Given the description of an element on the screen output the (x, y) to click on. 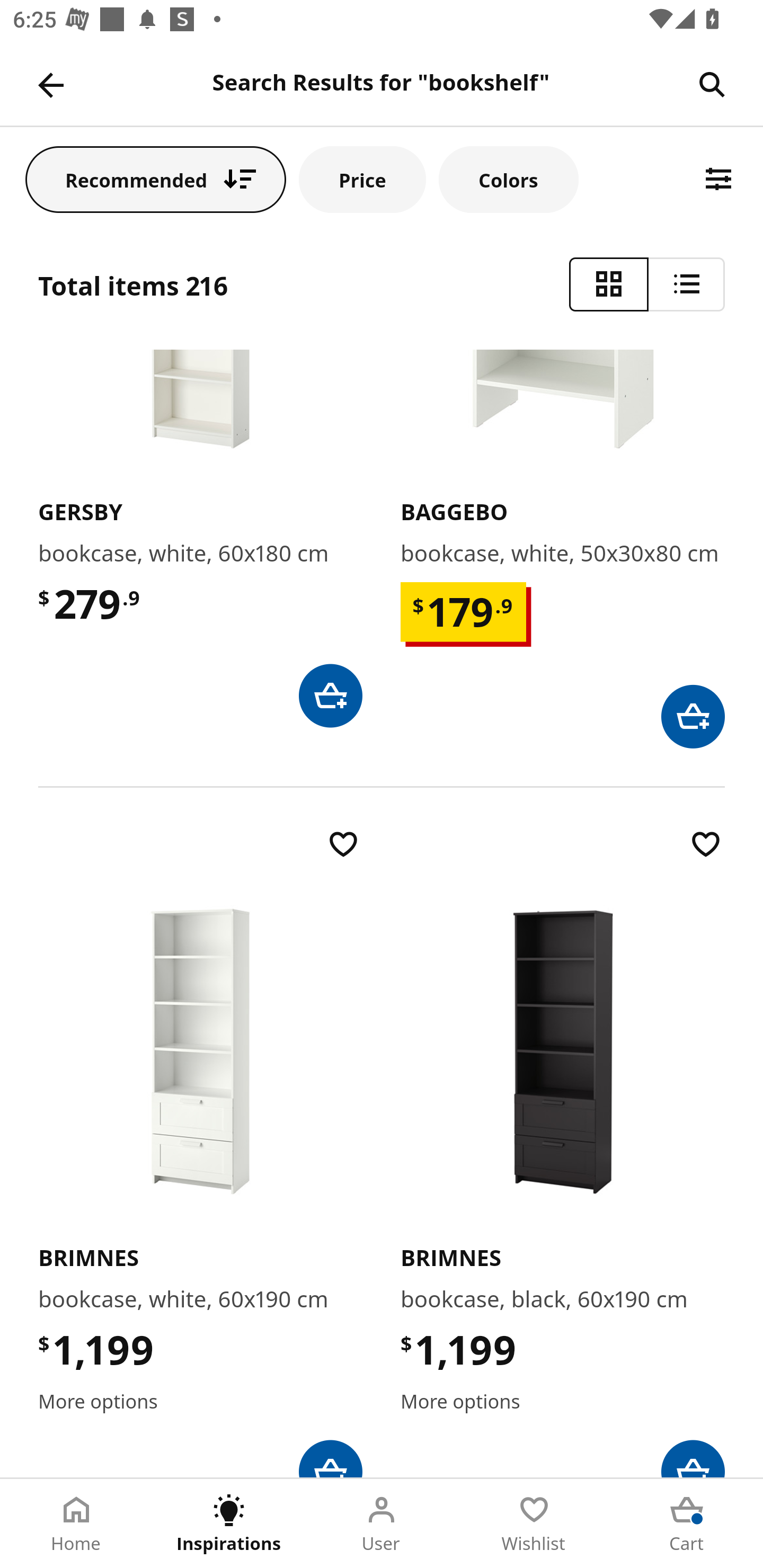
Recommended (155, 179)
Price (362, 179)
Colors (508, 179)
​G​E​R​S​B​Y​
bookcase, white, 60x180 cm
$
279
.9 (200, 538)
Home
Tab 1 of 5 (76, 1522)
Inspirations
Tab 2 of 5 (228, 1522)
User
Tab 3 of 5 (381, 1522)
Wishlist
Tab 4 of 5 (533, 1522)
Cart
Tab 5 of 5 (686, 1522)
